Given the description of an element on the screen output the (x, y) to click on. 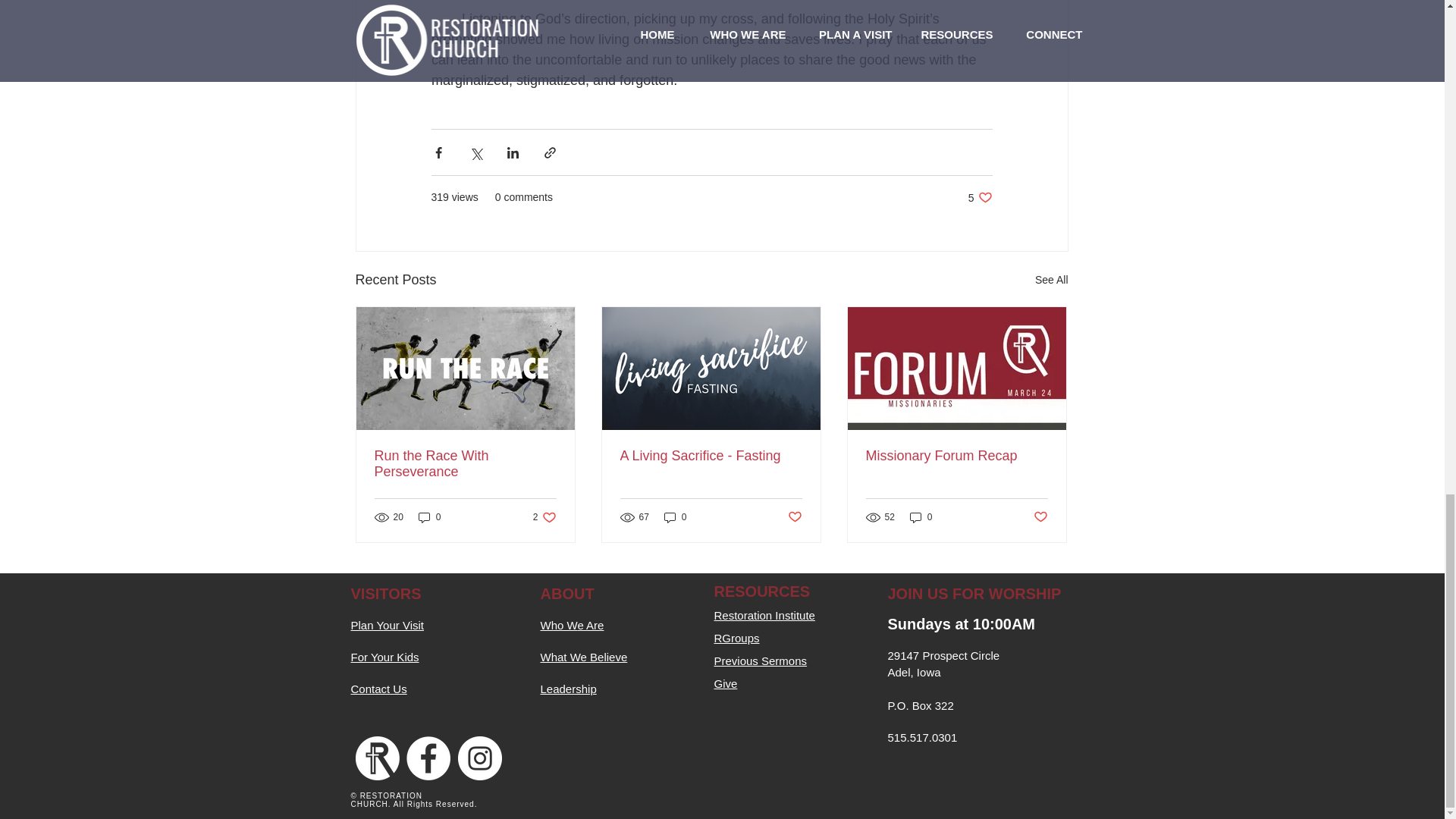
0 (429, 517)
Plan Your Visit (386, 623)
0 (921, 517)
Post not marked as liked (1039, 516)
For Your Kids (384, 656)
Contact Us (378, 687)
See All (1051, 280)
Run the Race With Perseverance (465, 463)
Post not marked as liked (794, 516)
0 (675, 517)
Missionary Forum Recap (957, 455)
A Living Sacrifice - Fasting (711, 455)
